Given the description of an element on the screen output the (x, y) to click on. 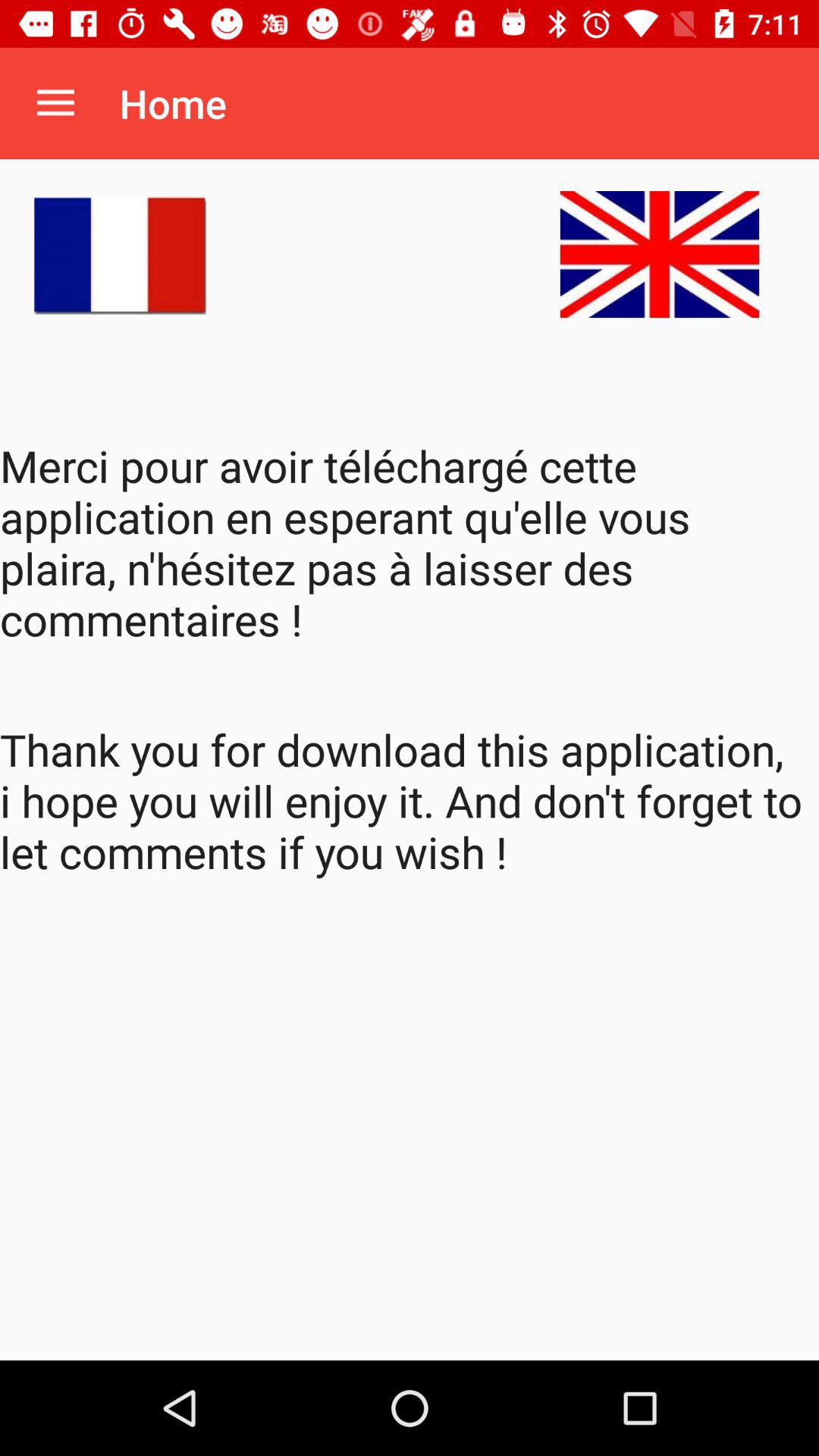
launch the app to the left of home app (55, 103)
